Given the description of an element on the screen output the (x, y) to click on. 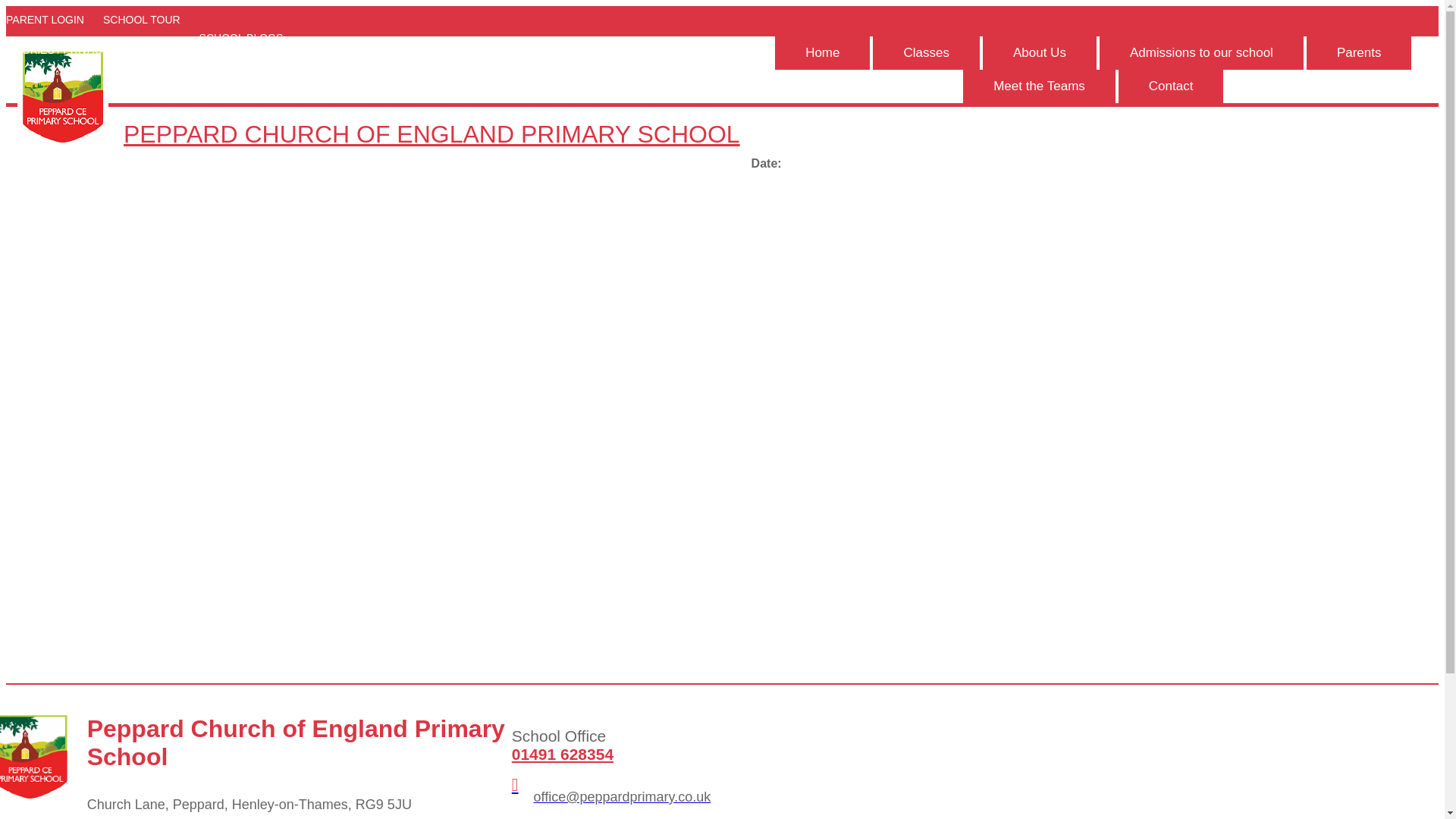
SCHOOL BLOGS (245, 37)
SCHOOL TOUR (145, 28)
Home (821, 52)
PARENT LOGIN (48, 28)
About Us (1039, 52)
Parents (1359, 52)
Meet the Teams (1038, 86)
PEPPARD CHURCH OF ENGLAND PRIMARY SCHOOL (378, 97)
Classes (925, 52)
Admissions to our school (1201, 52)
